Given the description of an element on the screen output the (x, y) to click on. 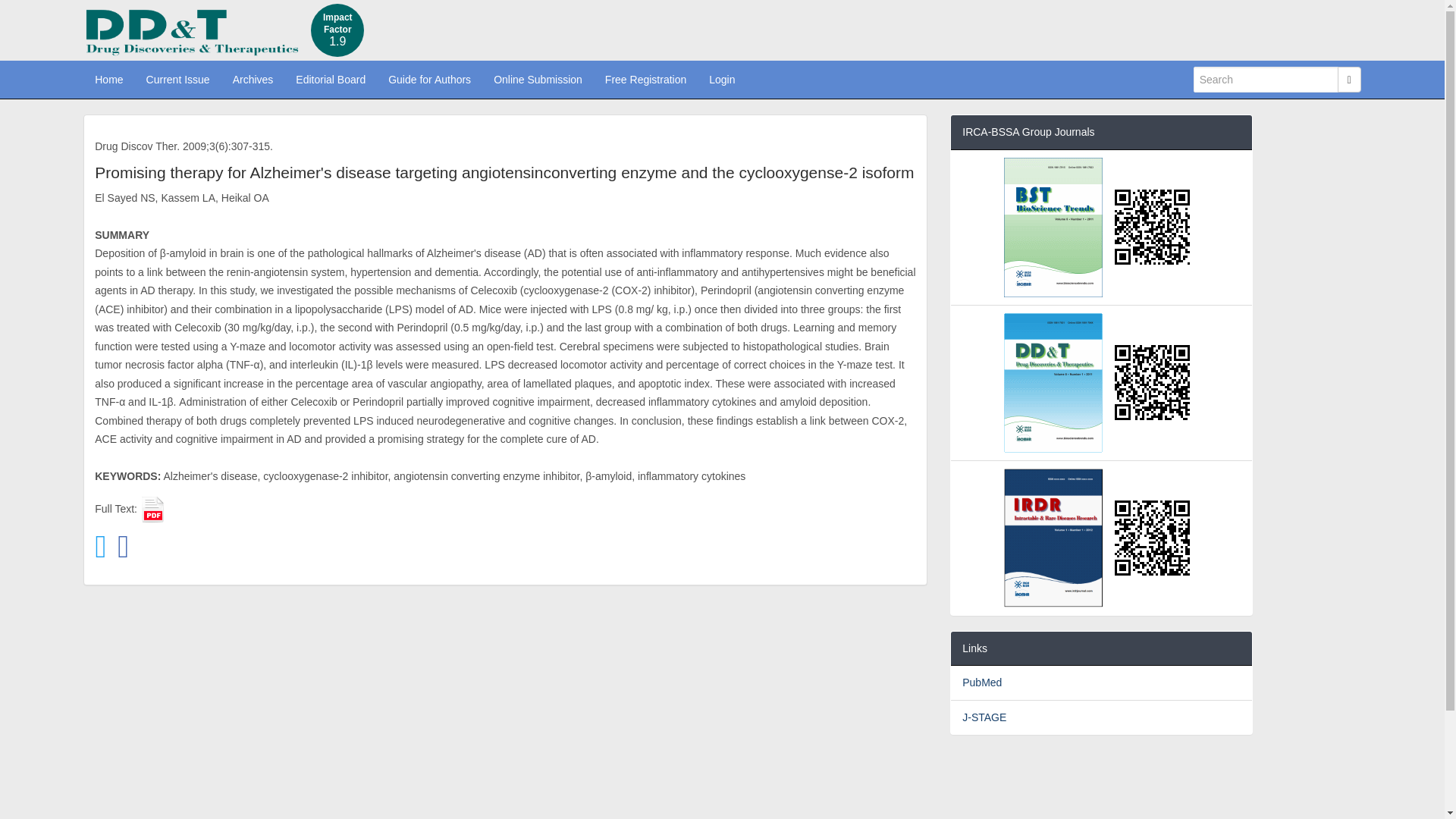
J-STAGE (984, 717)
Online Submission (537, 79)
Current Issue (178, 79)
Editorial Board (330, 79)
Free Registration (645, 79)
Archives (253, 79)
Home (107, 79)
Guide for Authors (429, 79)
Login (721, 79)
PubMed (981, 682)
